Given the description of an element on the screen output the (x, y) to click on. 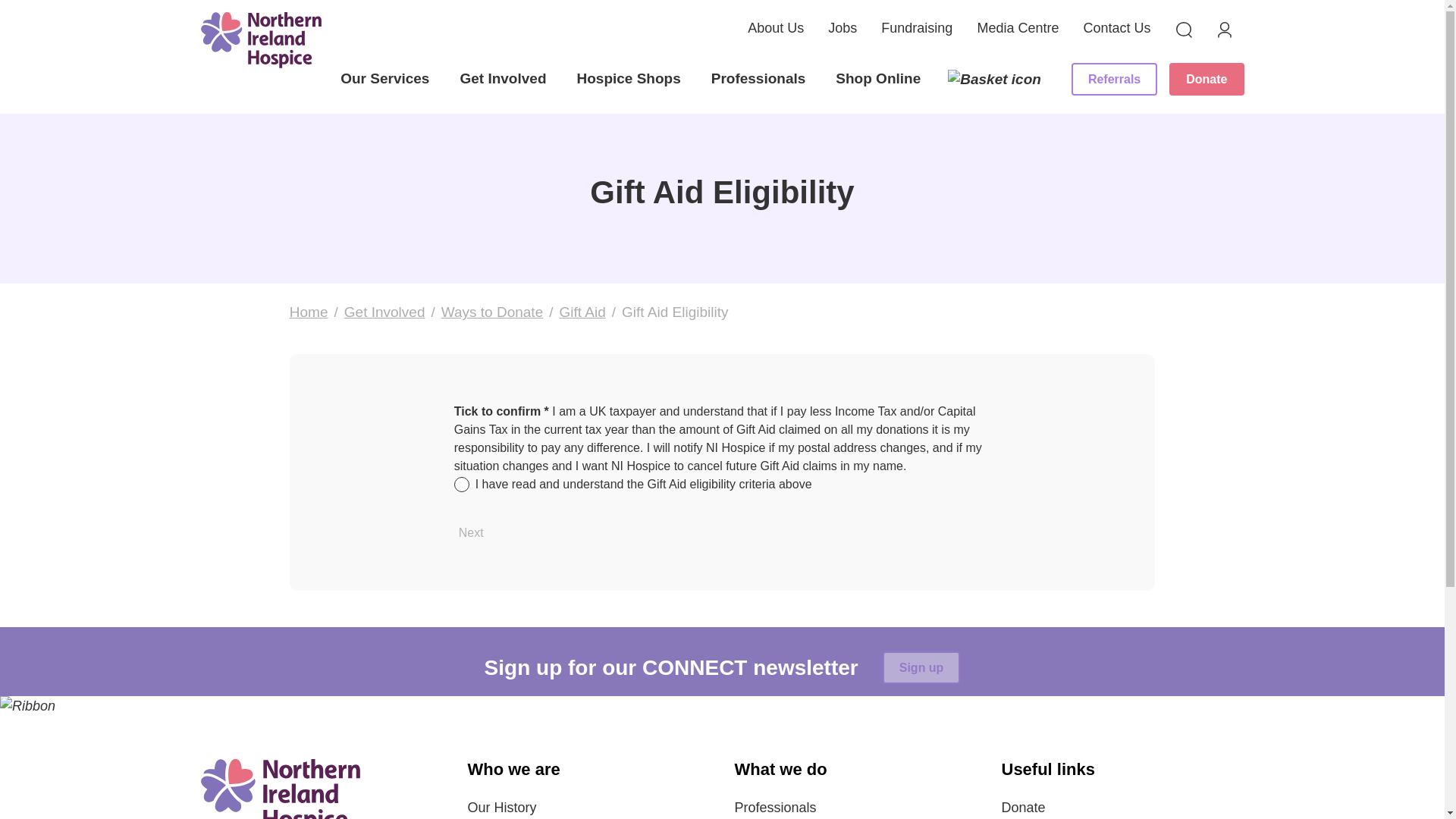
Next (470, 532)
Fundraising (916, 28)
About Us (775, 28)
Jobs (842, 28)
Contact Us (1116, 28)
Get Involved (503, 82)
Our Services (384, 82)
Media Centre (1017, 28)
Hospice Shops (627, 82)
